Given the description of an element on the screen output the (x, y) to click on. 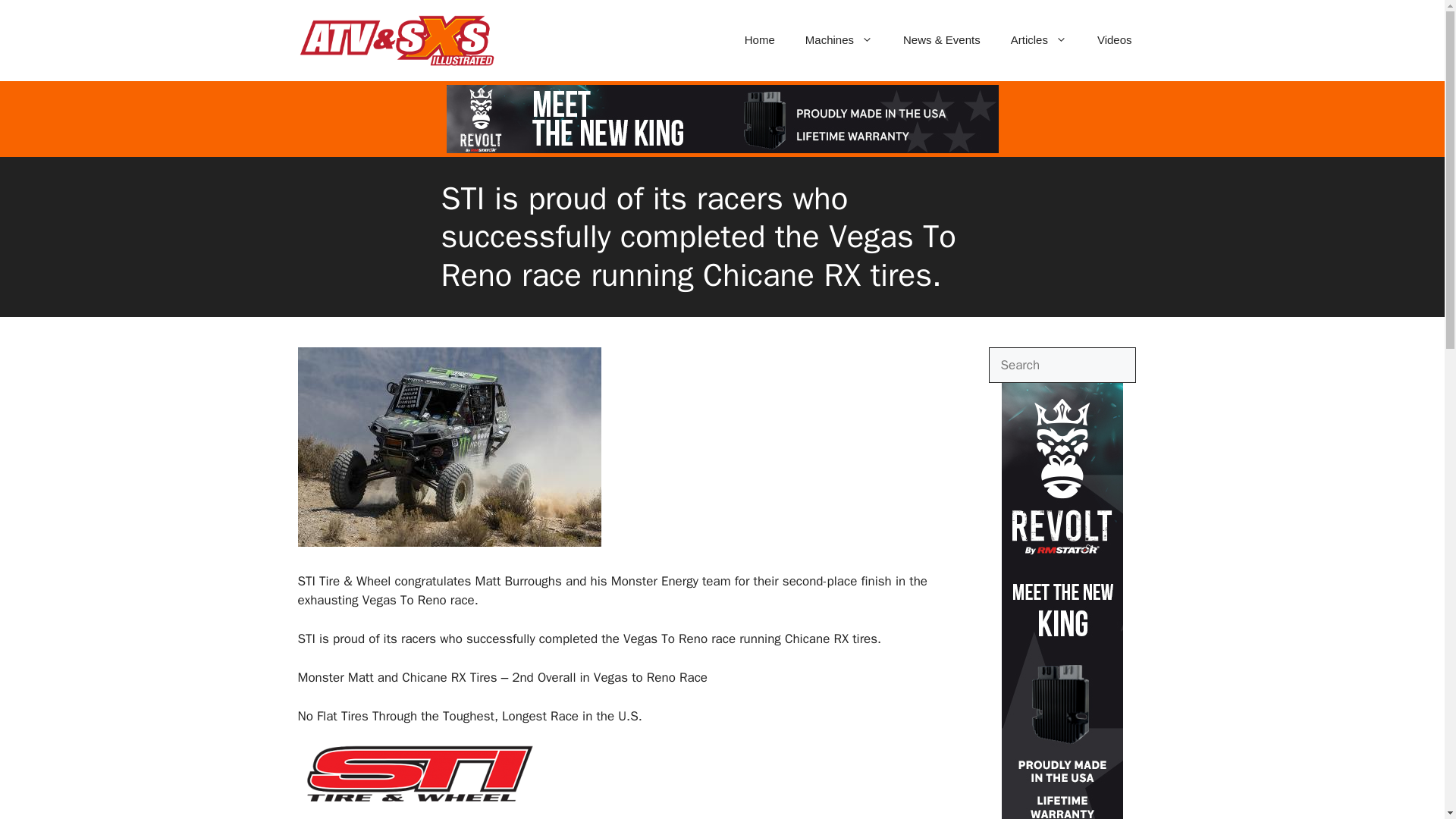
Machines (839, 40)
Articles (1038, 40)
Home (759, 40)
Videos (1114, 40)
